Given the description of an element on the screen output the (x, y) to click on. 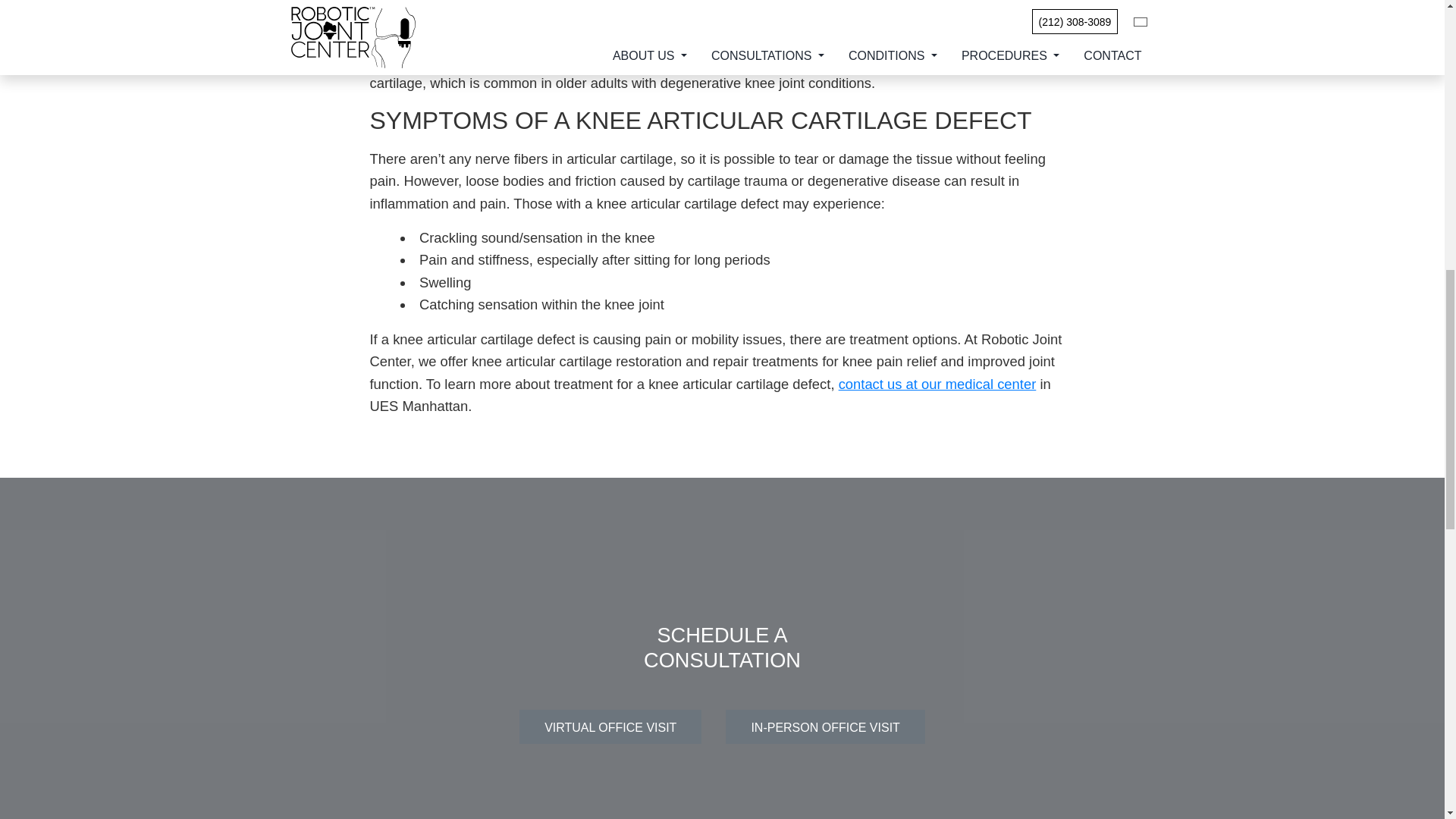
Contact Robotic Joint Center in New York NY (937, 383)
